Given the description of an element on the screen output the (x, y) to click on. 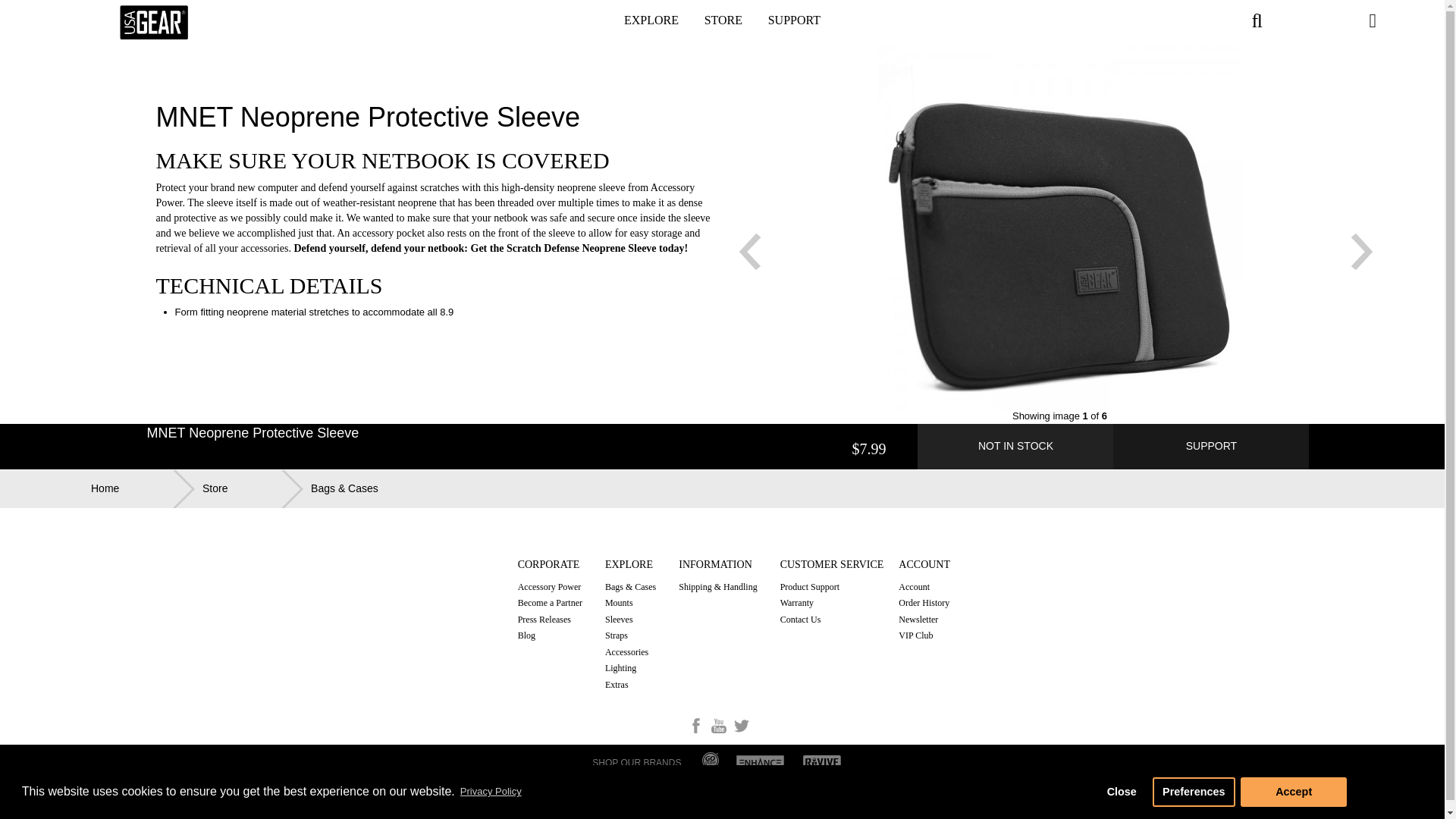
Preferences (1193, 791)
Close (1121, 791)
Accept (1293, 791)
USA Gear (153, 21)
Privacy Policy (490, 792)
EXPLORE (651, 22)
STORE (723, 22)
